Given the description of an element on the screen output the (x, y) to click on. 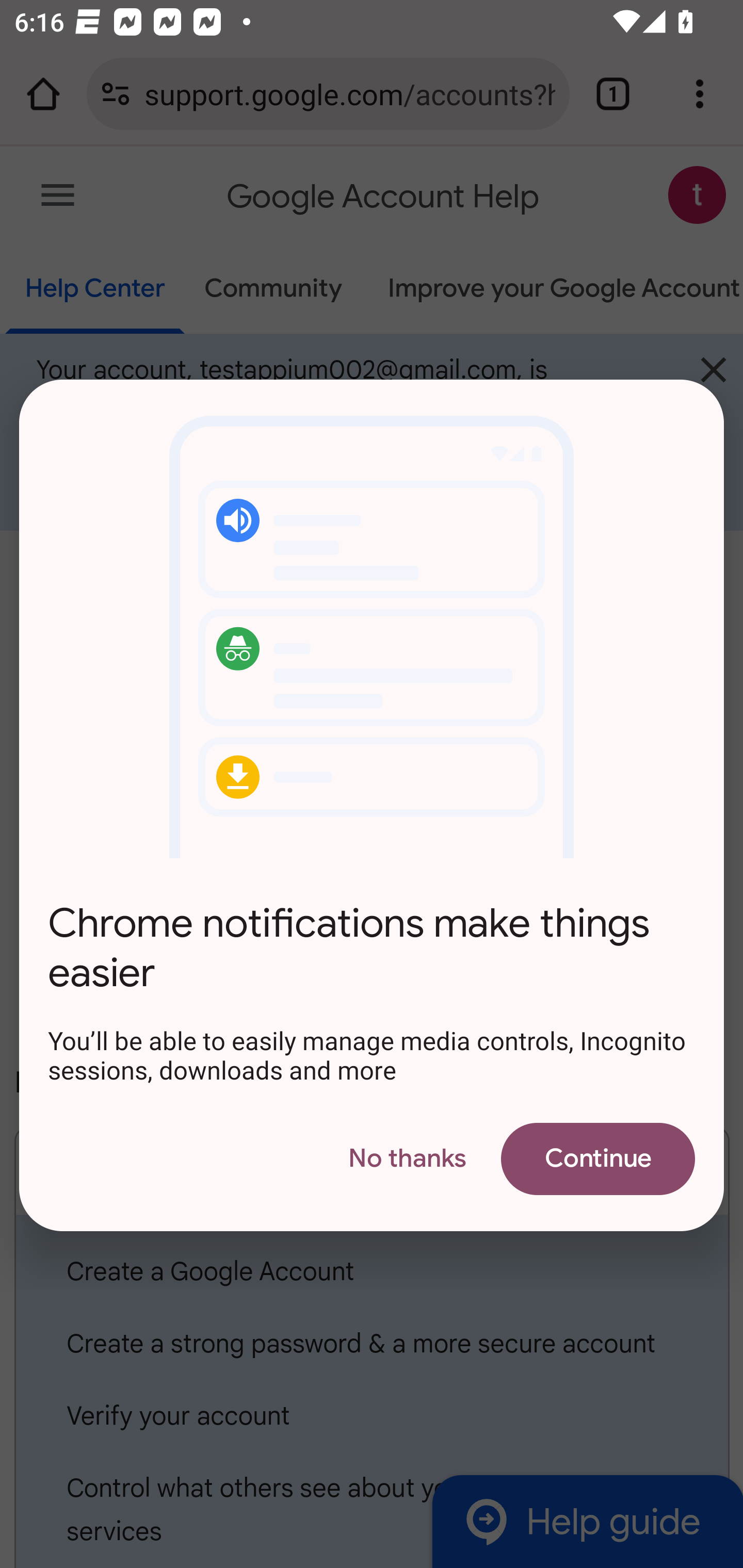
No thanks (406, 1159)
Continue (597, 1159)
